Given the description of an element on the screen output the (x, y) to click on. 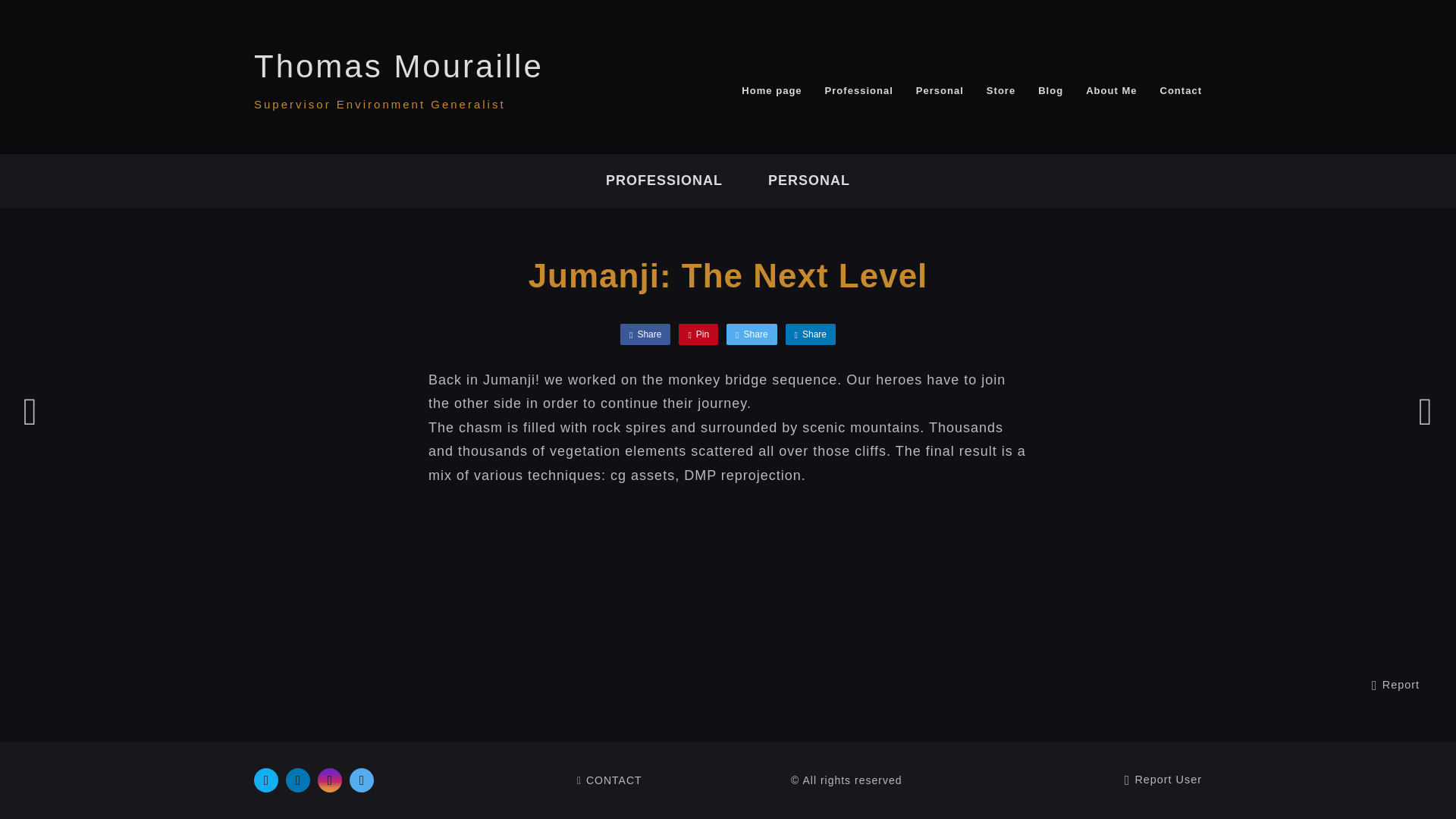
Blog (1050, 90)
PROFESSIONAL (663, 180)
Home page (771, 90)
Professional (859, 90)
Contact (1180, 90)
PERSONAL (809, 180)
Share (644, 333)
Pin (697, 333)
Personal (939, 90)
Report (1395, 685)
CONTACT (609, 779)
Thomas Mouraille (398, 66)
Store (1000, 90)
Share (751, 333)
About Me (1111, 90)
